Given the description of an element on the screen output the (x, y) to click on. 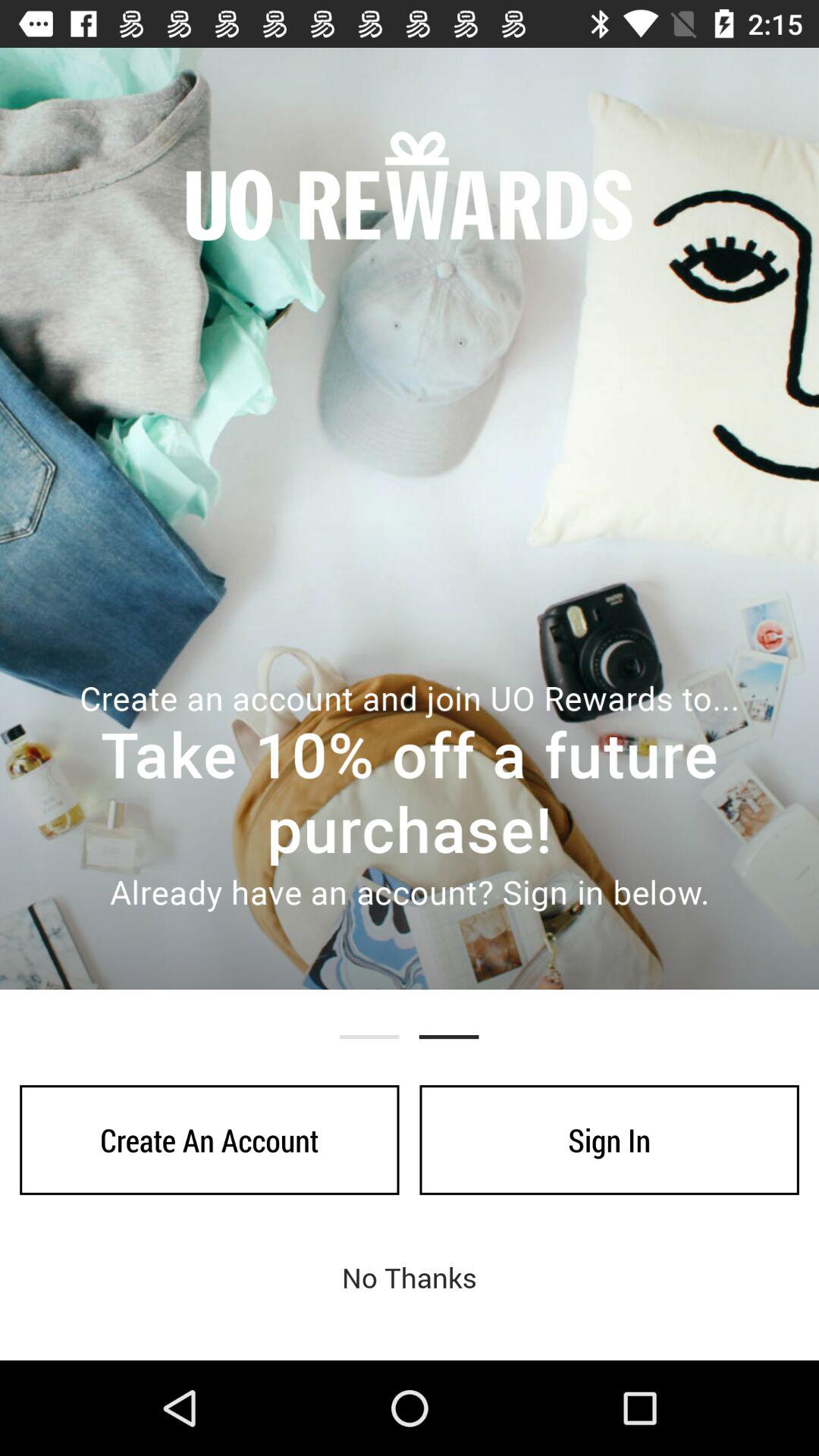
tap item above no thanks (209, 1139)
